Given the description of an element on the screen output the (x, y) to click on. 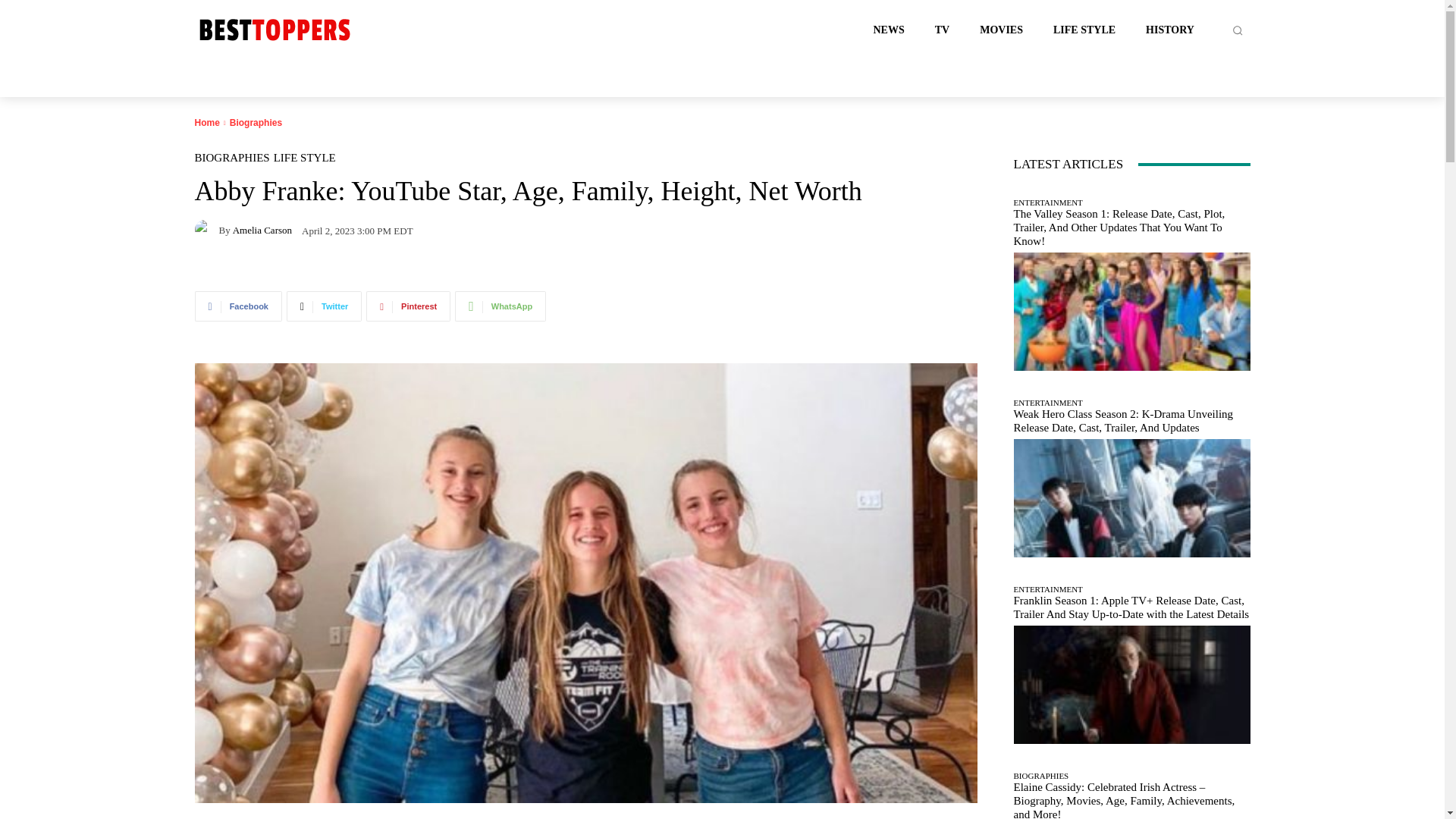
Home (206, 122)
LIFE STYLE (1083, 30)
LIFE STYLE (304, 157)
BIOGRAPHIES (231, 157)
Biographies (256, 122)
